Given the description of an element on the screen output the (x, y) to click on. 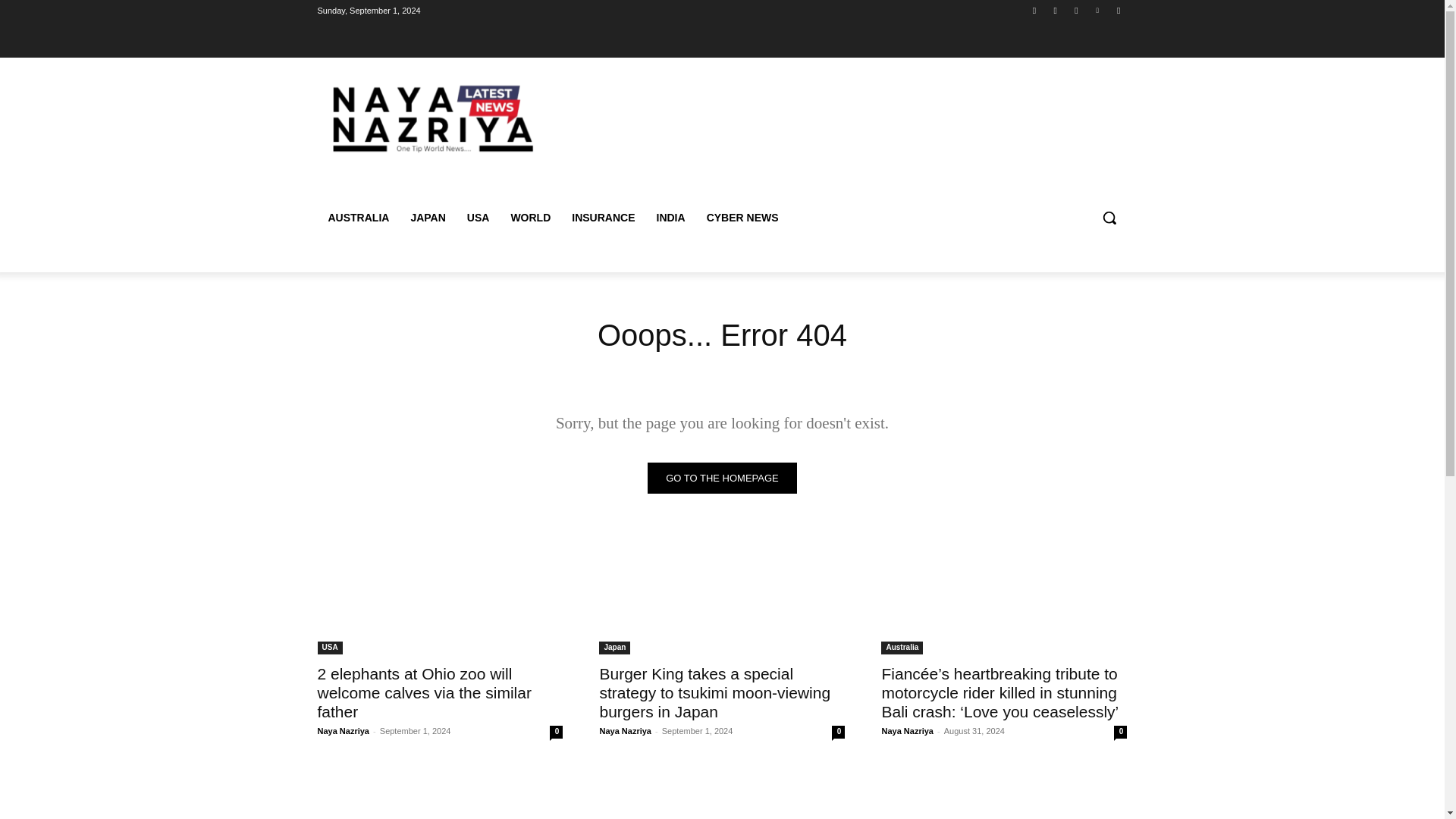
0 (1119, 731)
Japan (614, 647)
Twitter (1075, 9)
Australia (901, 647)
Vimeo (1097, 9)
0 (837, 731)
Naya Nazriya (624, 730)
